Given the description of an element on the screen output the (x, y) to click on. 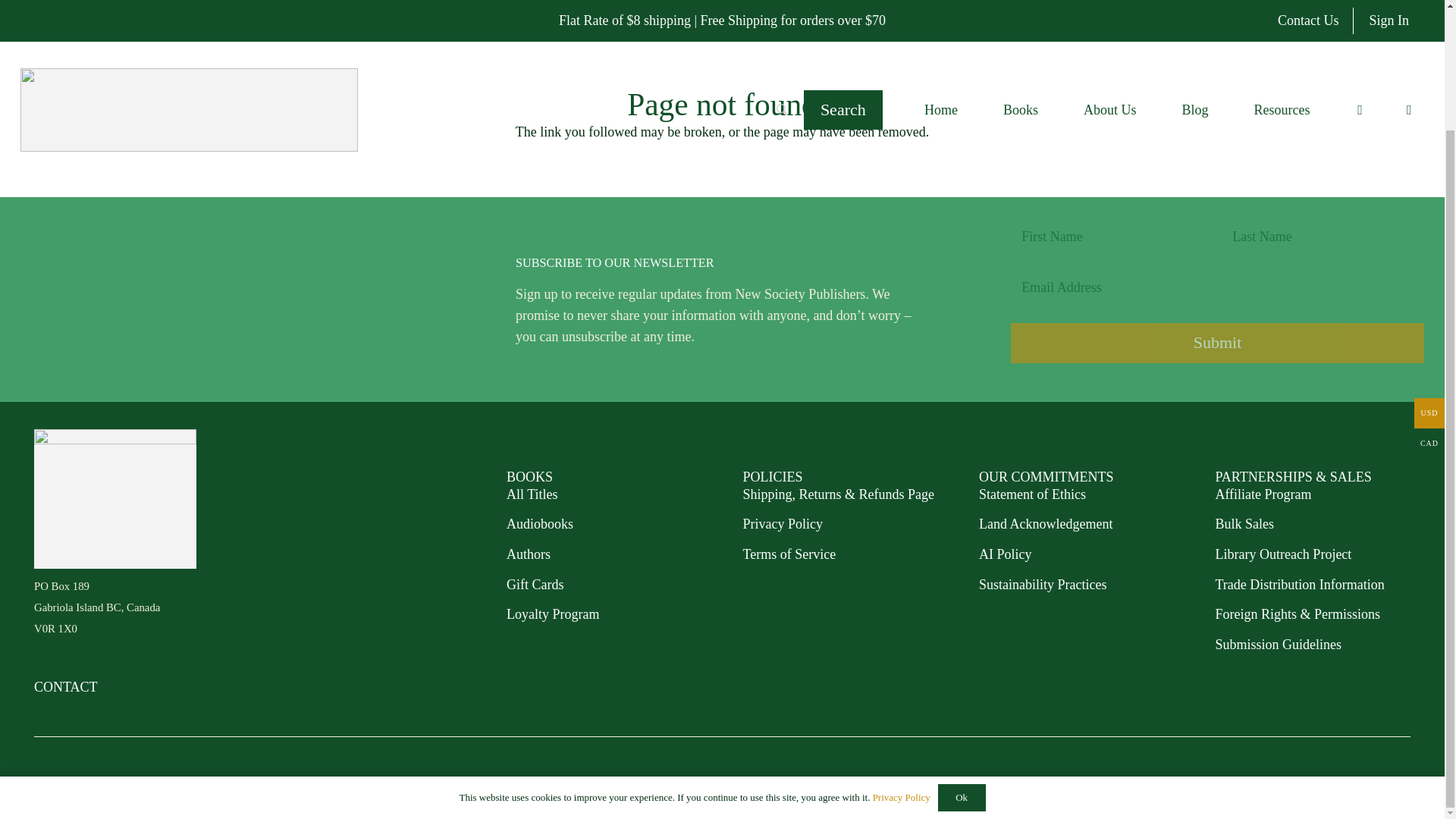
YouTube (1337, 782)
Submit (1216, 342)
Twitter (1404, 783)
Pinterest (1385, 782)
Instagram (1353, 783)
Facebook (1369, 782)
